Given the description of an element on the screen output the (x, y) to click on. 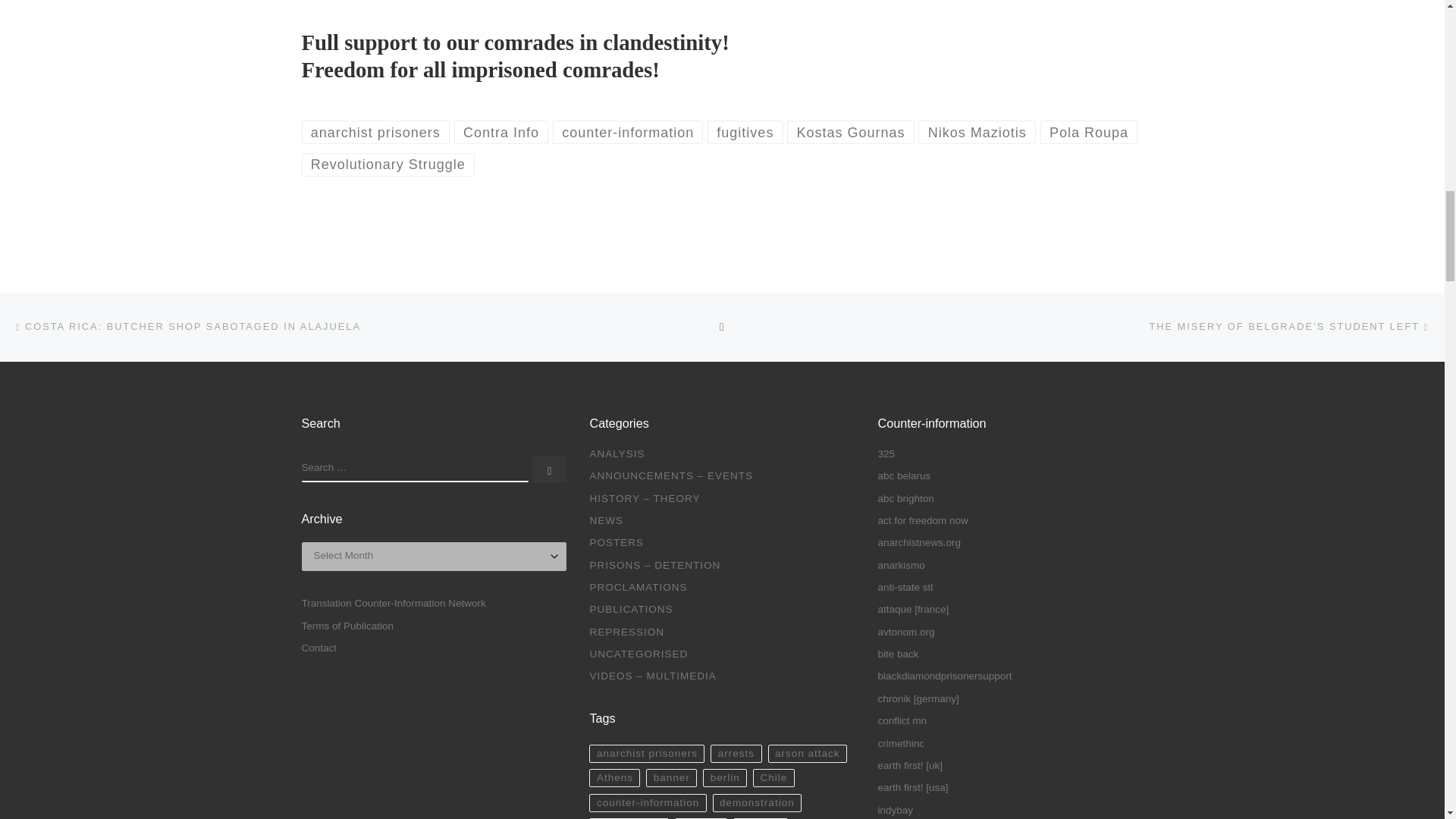
View all posts in fugitives (745, 132)
Kostas Gournas (850, 132)
Nikos Maziotis (976, 132)
View all posts in Revolutionary Struggle (388, 164)
View all posts in Pola Roupa (1089, 132)
counter-information (628, 132)
View all posts in counter-information (628, 132)
View all posts in Contra Info (501, 132)
View all posts in anarchist prisoners (375, 132)
View all posts in Kostas Gournas (850, 132)
fugitives (745, 132)
View all posts in Nikos Maziotis (976, 132)
anarchist prisoners (375, 132)
Contra Info (501, 132)
